Given the description of an element on the screen output the (x, y) to click on. 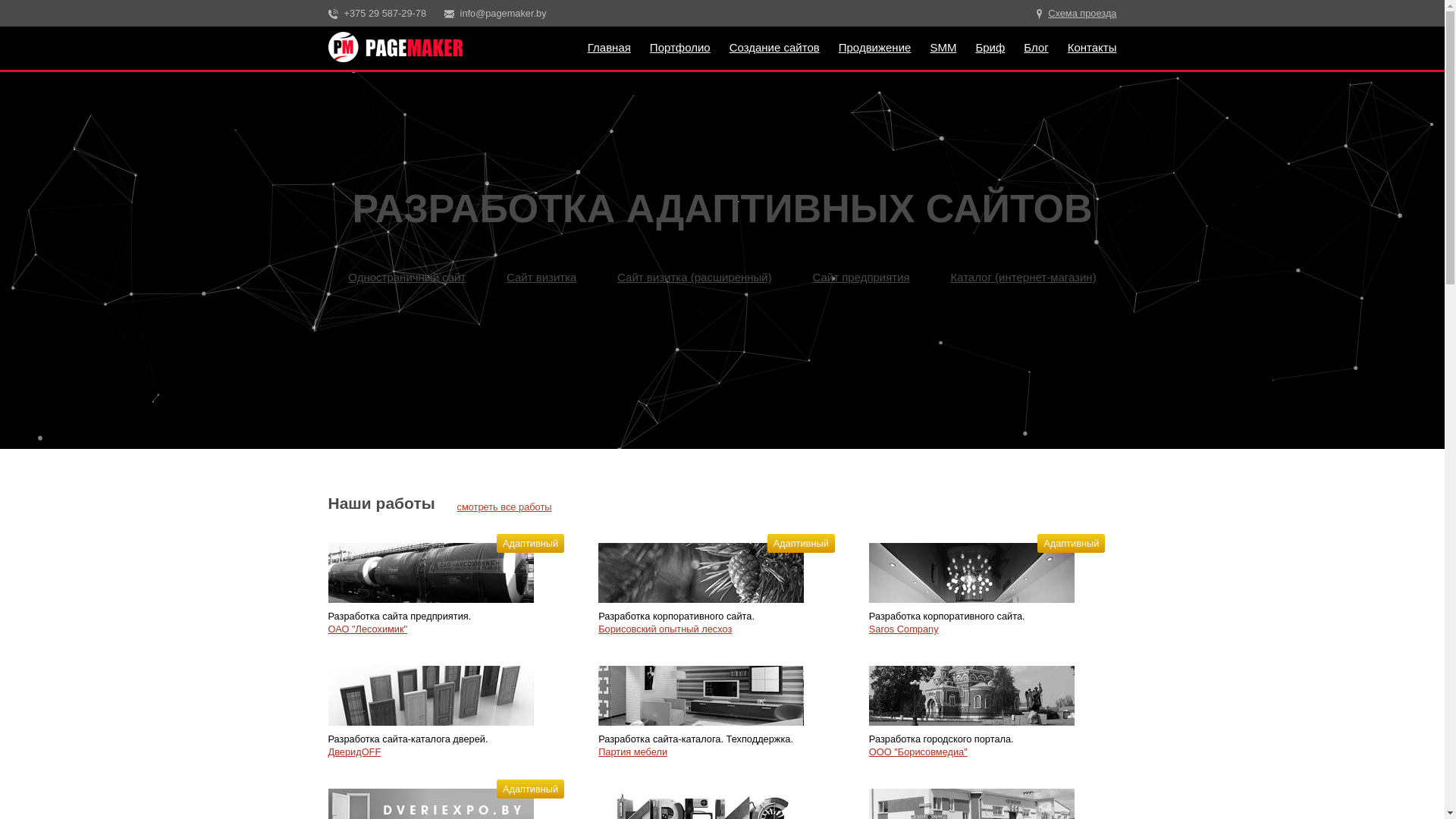
SMM Element type: text (942, 46)
Saros Company Element type: hover (971, 602)
Saros Company Element type: text (903, 628)
